Given the description of an element on the screen output the (x, y) to click on. 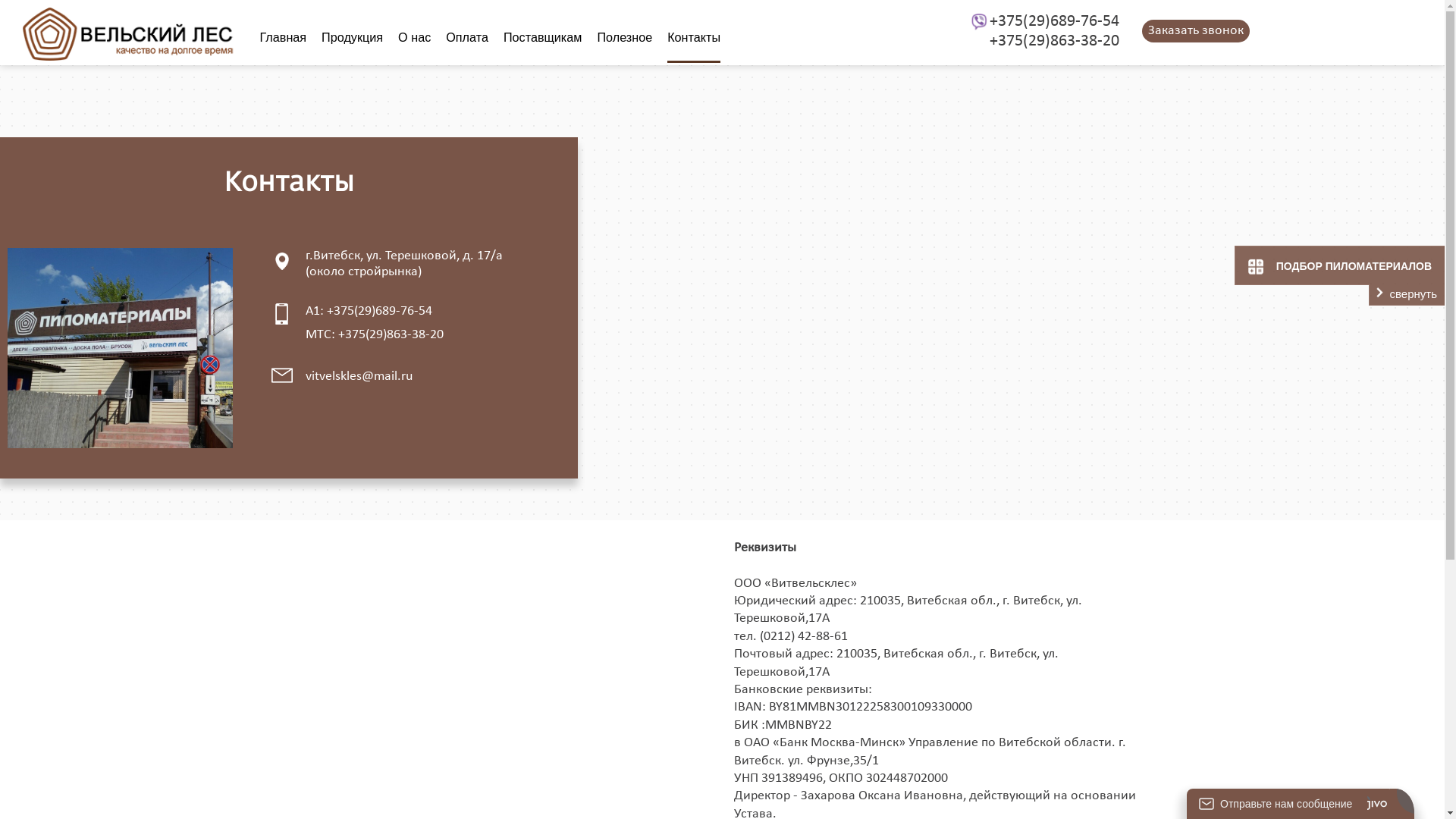
vitvelskles@mail.ru Element type: text (358, 376)
